Given the description of an element on the screen output the (x, y) to click on. 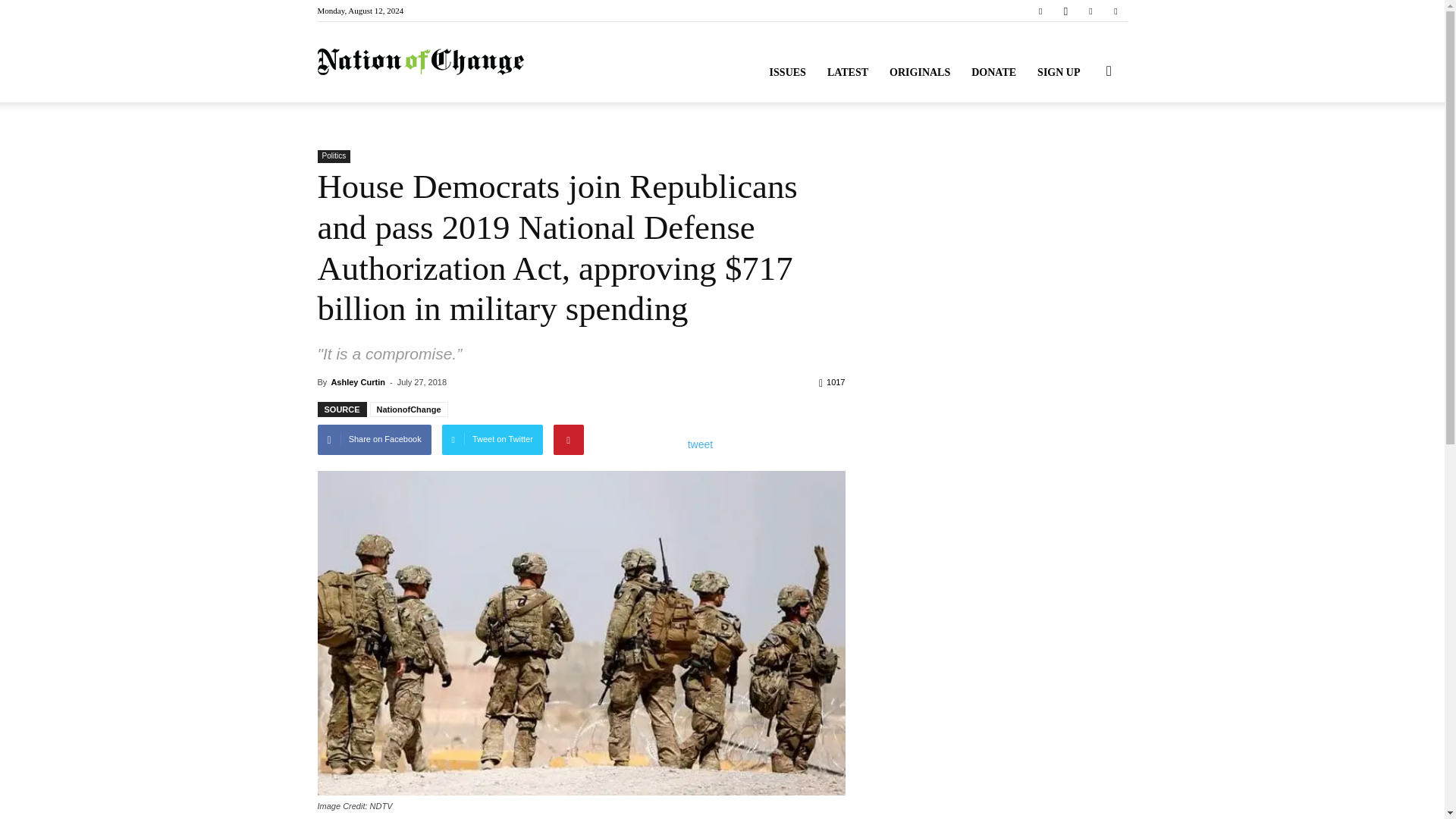
ISSUES (787, 72)
Youtube (1114, 10)
Twitter (1090, 10)
NationofChange (419, 61)
Instagram (1065, 10)
Facebook (1040, 10)
